Given the description of an element on the screen output the (x, y) to click on. 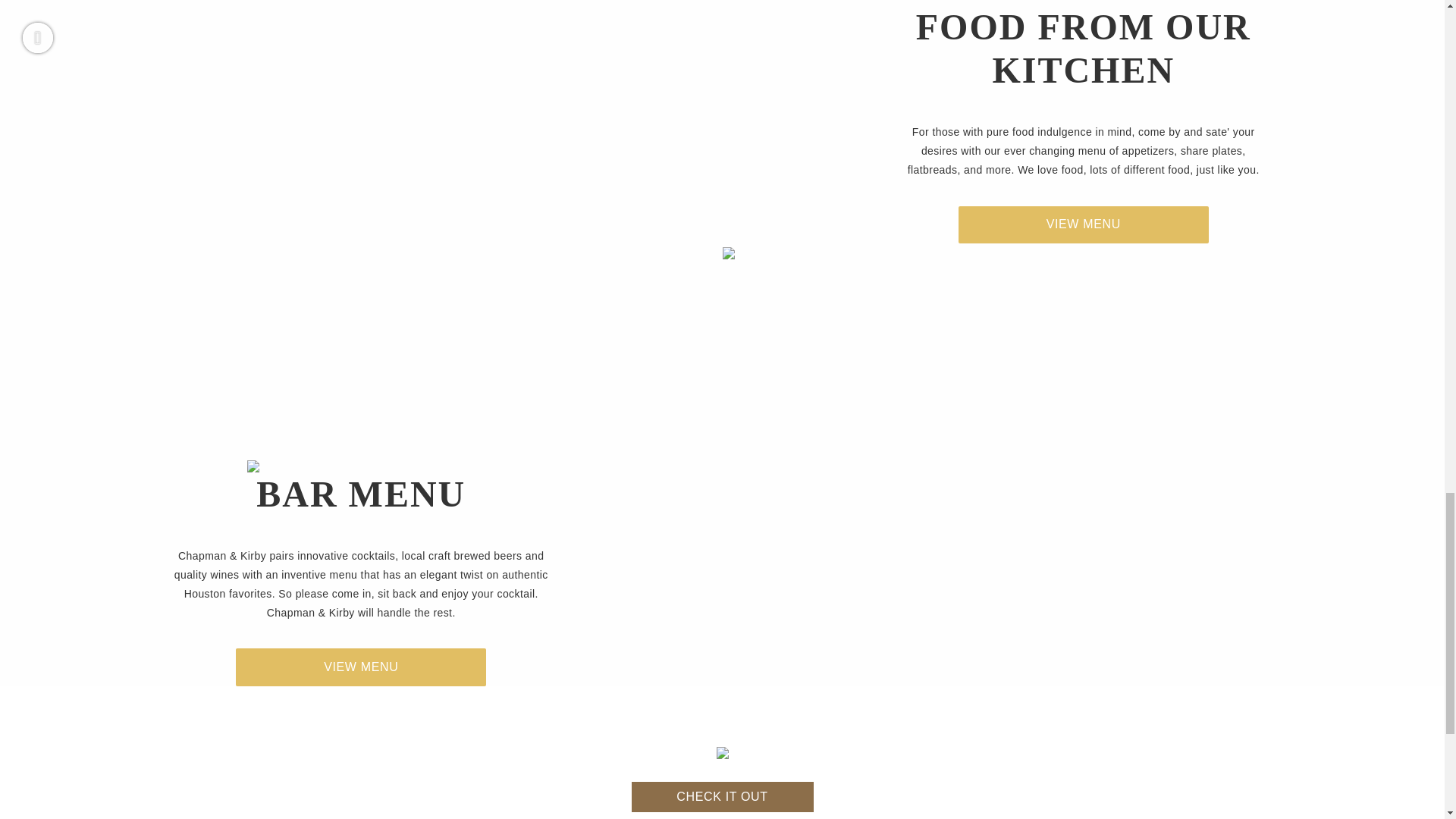
VIEW MENU (1083, 225)
VIEW MENU (360, 667)
CHECK IT OUT (721, 797)
